Given the description of an element on the screen output the (x, y) to click on. 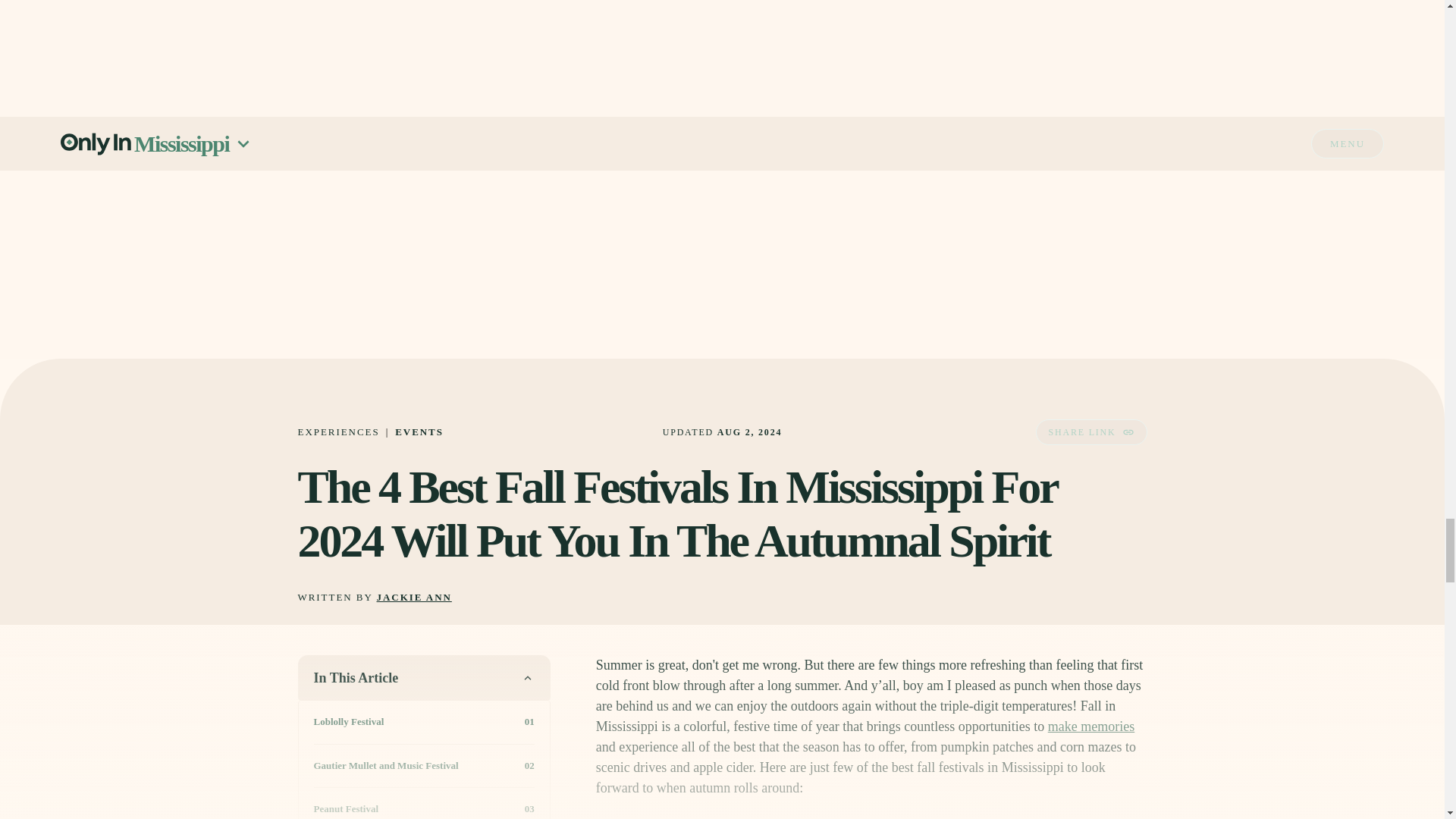
Peanut Festival (346, 808)
SUBSCRIBE (1075, 38)
SHARE LINK (1091, 432)
CHOOSE YOUR STATE (871, 5)
Gautier Mullet and Music Festival (386, 766)
Loblolly Festival (349, 721)
EVENTS (419, 431)
JACKIE ANN (414, 597)
EXPERIENCES (337, 431)
make memories (1091, 726)
